Given the description of an element on the screen output the (x, y) to click on. 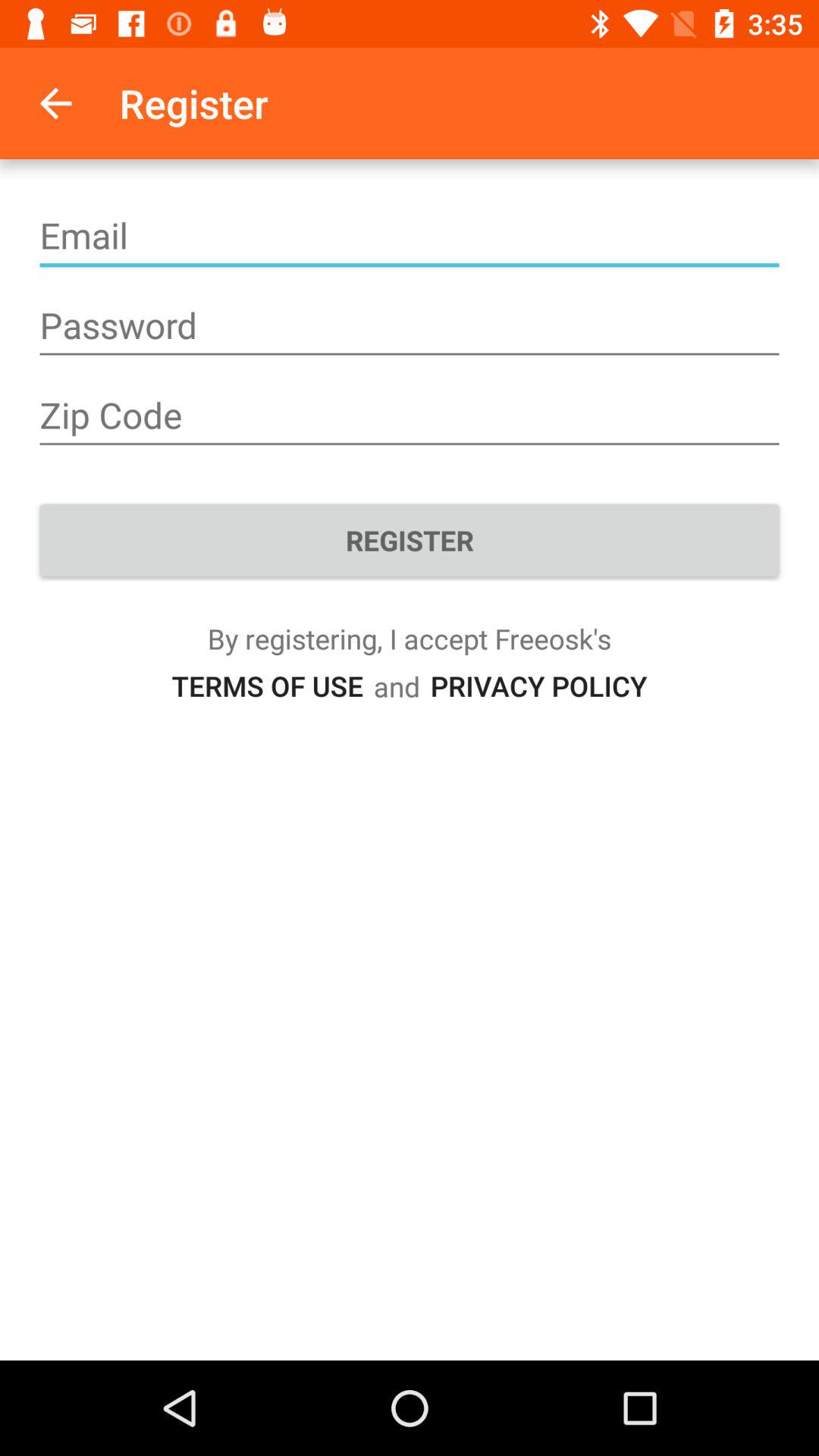
swipe until terms of use icon (267, 685)
